Given the description of an element on the screen output the (x, y) to click on. 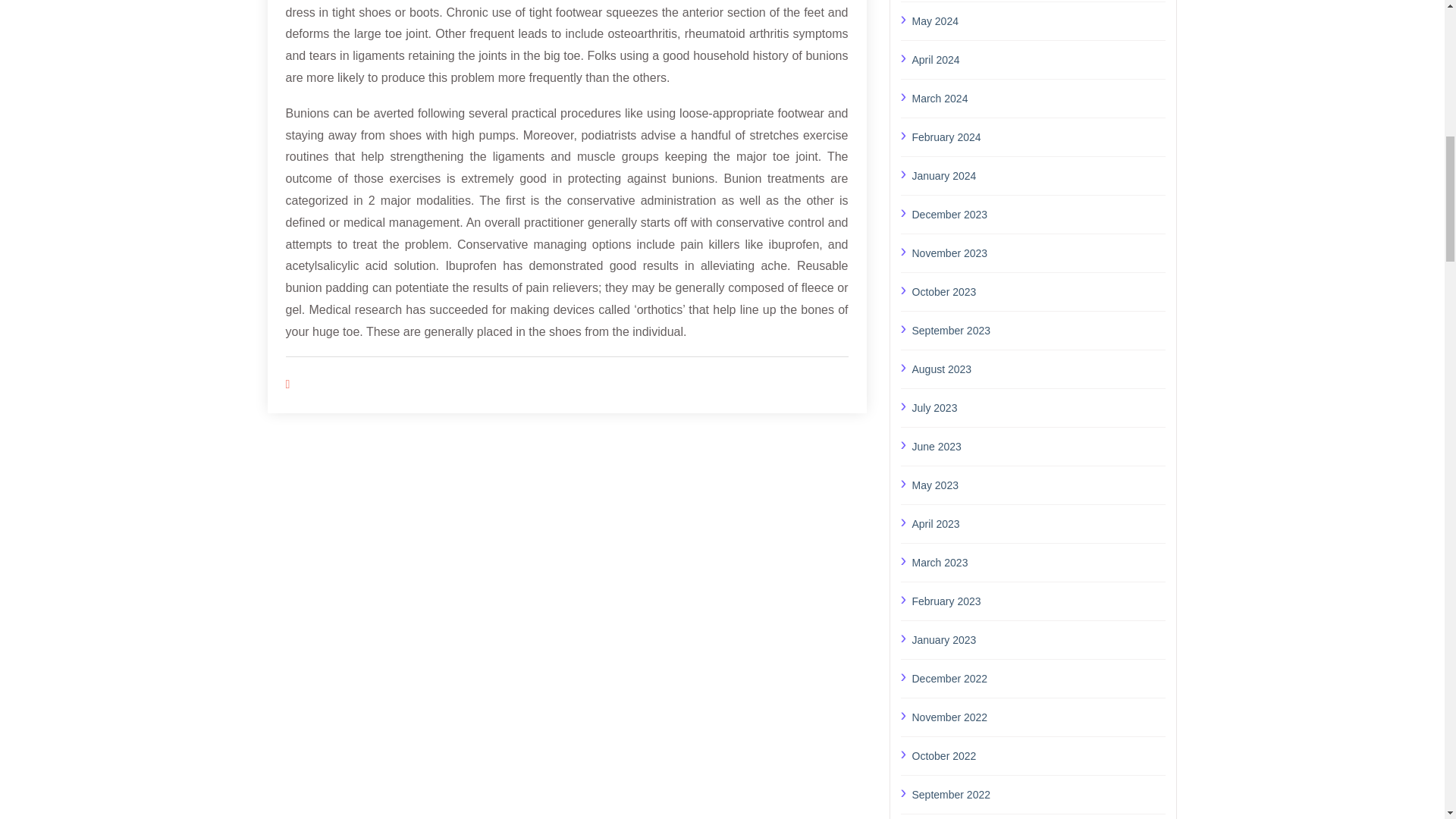
October 2022 (1038, 755)
January 2024 (1038, 175)
October 2023 (1038, 291)
March 2023 (1038, 561)
May 2024 (1038, 20)
February 2023 (1038, 600)
April 2024 (1038, 59)
April 2023 (1038, 523)
November 2023 (1038, 252)
May 2023 (1038, 484)
